Given the description of an element on the screen output the (x, y) to click on. 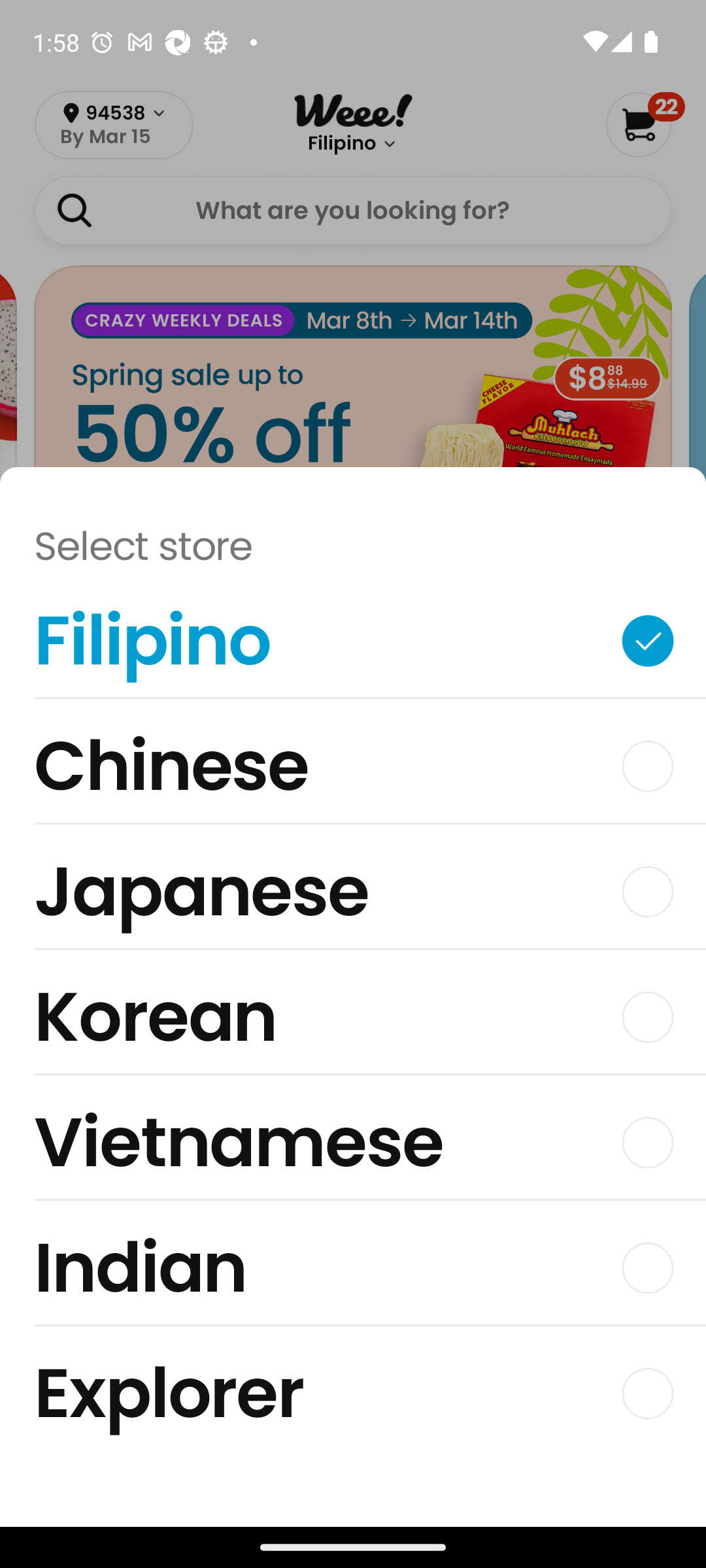
Filipino (353, 645)
Chinese (353, 771)
Japanese (353, 896)
Korean (353, 1022)
Vietnamese (353, 1147)
Indian (353, 1272)
Explorer (353, 1392)
